Given the description of an element on the screen output the (x, y) to click on. 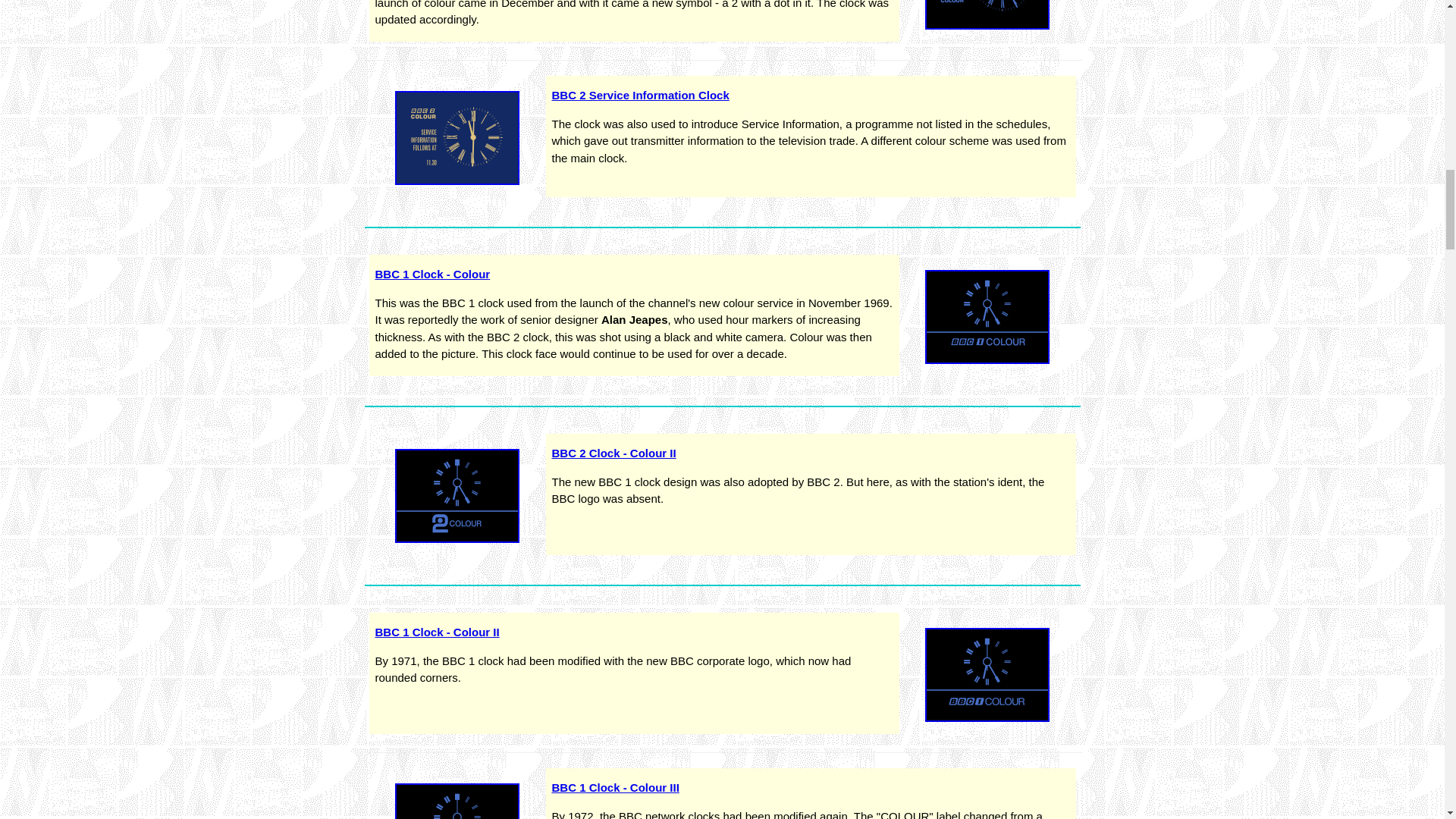
BBC 2 COLOUR Service Information clock (456, 137)
BBC 1 Clock from 1971 (986, 674)
BBC 1 Clock - Colour (431, 273)
BBC 2 Clock from 1969 (456, 495)
BBC 2 Service Information Clock (640, 94)
BBC 2 Clock - Colour II (614, 452)
BBC 1 Clock from 1972 (456, 800)
First BBC 1 COLOUR clock (986, 316)
